Given the description of an element on the screen output the (x, y) to click on. 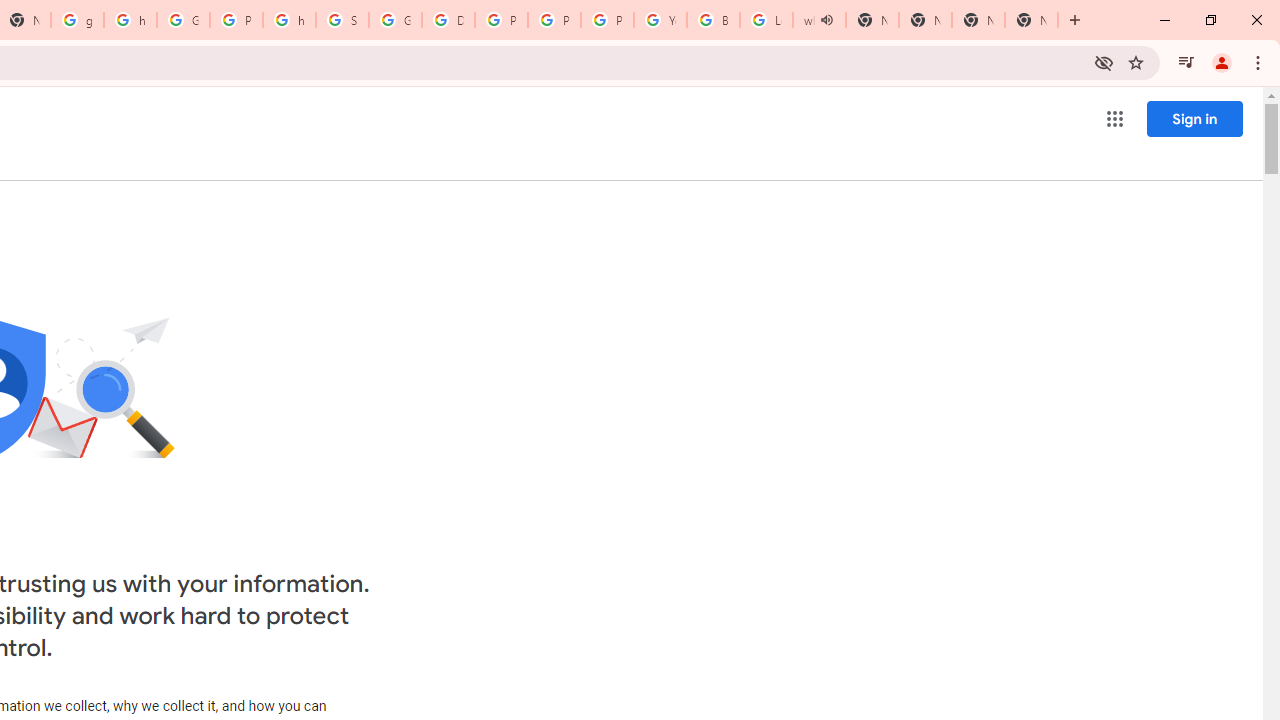
Mute tab (826, 20)
Privacy Help Center - Policies Help (554, 20)
Browse Chrome as a guest - Computer - Google Chrome Help (713, 20)
